Given the description of an element on the screen output the (x, y) to click on. 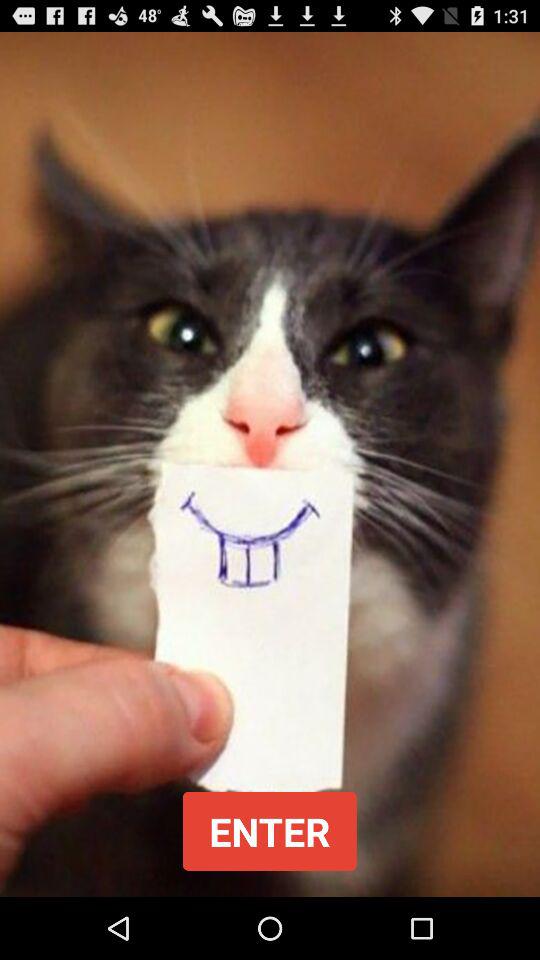
tap button at the bottom (269, 830)
